Given the description of an element on the screen output the (x, y) to click on. 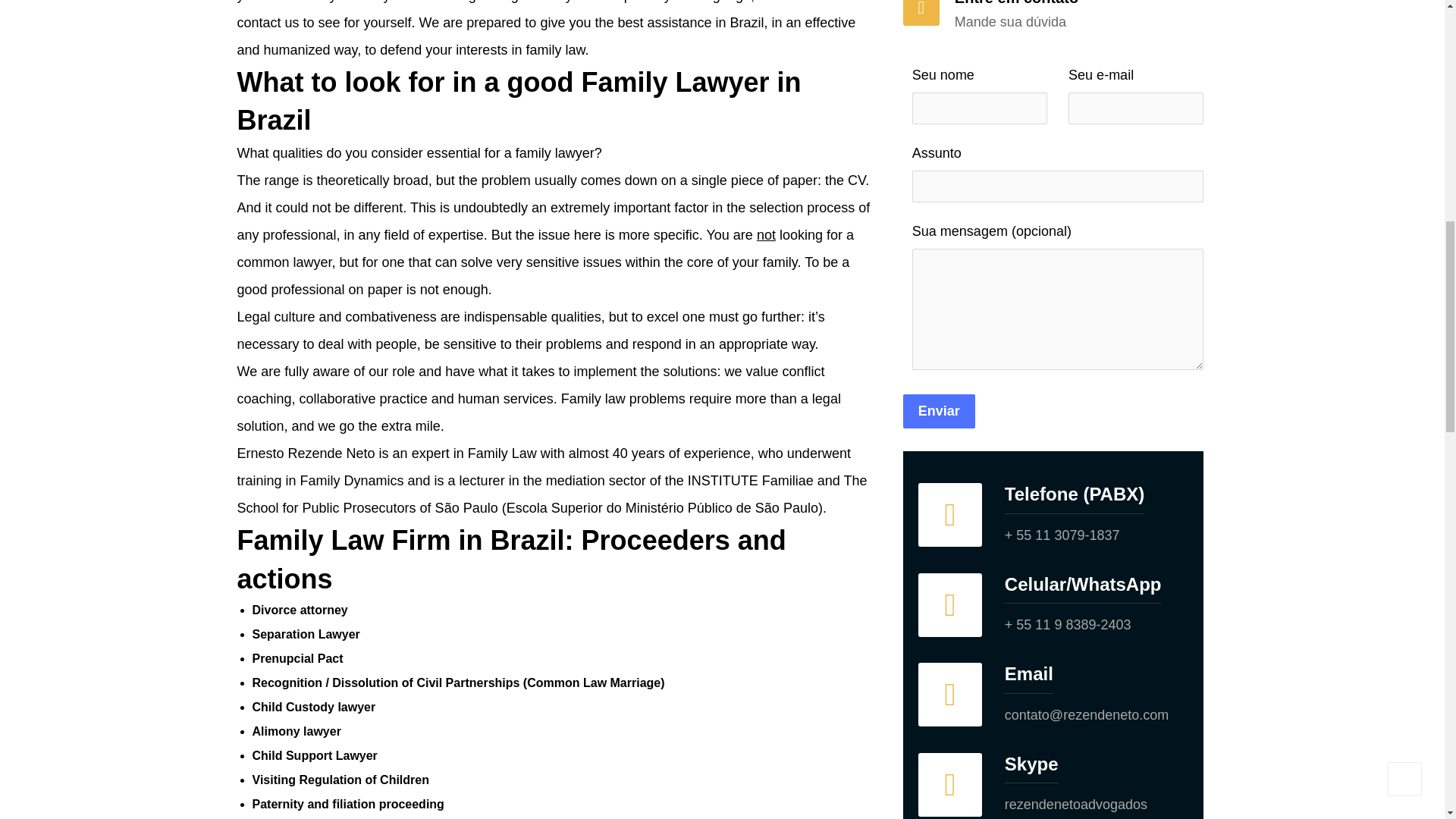
Enviar (938, 410)
